Given the description of an element on the screen output the (x, y) to click on. 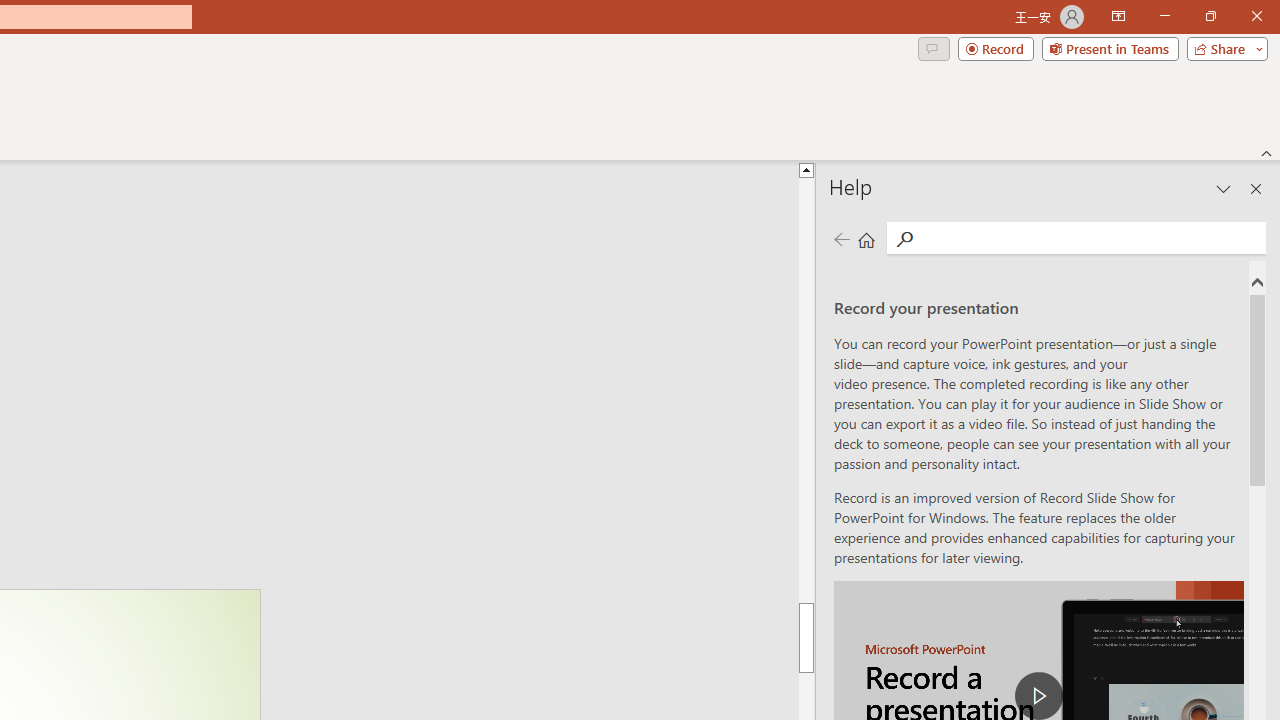
Comments (933, 48)
Task Pane Options (1224, 188)
Search (904, 238)
Close pane (1256, 188)
